Given the description of an element on the screen output the (x, y) to click on. 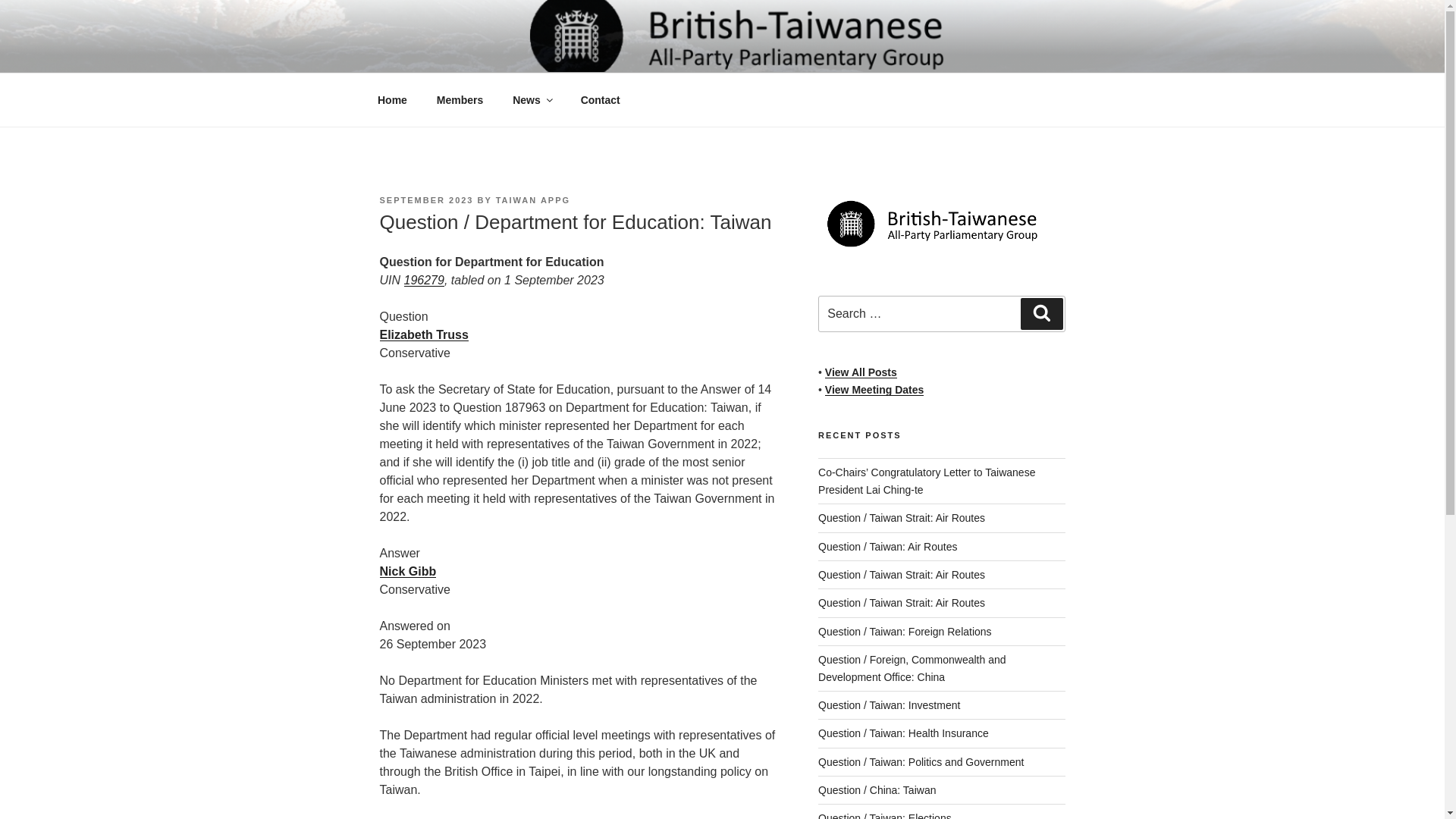
Contact (600, 99)
SEPTEMBER 2023 (425, 199)
View All Posts (860, 372)
196279 (423, 279)
BRITISH-TAIWANESE ALL-PARTY PARLIAMENTARY GROUP (626, 70)
TAIWAN APPG (533, 199)
Home (392, 99)
View Meeting Dates (874, 389)
Search (1041, 314)
Members (459, 99)
